Given the description of an element on the screen output the (x, y) to click on. 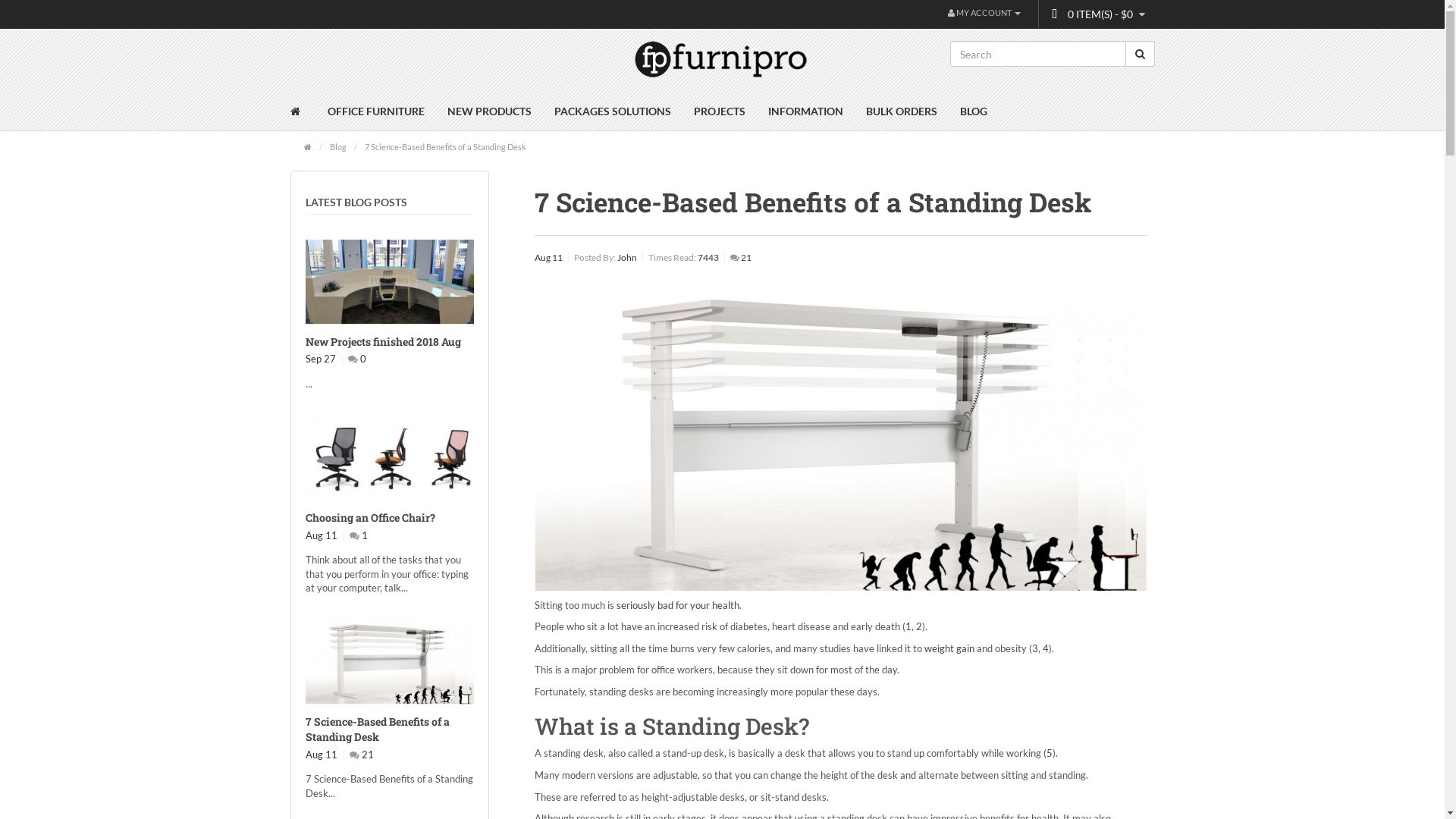
NEW PRODUCTS Element type: text (488, 111)
PROJECTS Element type: text (719, 111)
7 Science-Based Benefits of a Standing Desk Element type: text (445, 146)
BULK ORDERS Element type: text (900, 111)
0 ITEM(S) - $0 Element type: text (1096, 14)
INFORMATION Element type: text (805, 111)
1 Element type: text (908, 626)
FurniPro - office, business , commercial furniture Element type: hover (721, 60)
Blog Element type: text (337, 146)
4 Element type: text (1045, 648)
5 Element type: text (1049, 752)
7 Science-Based Benefits of a Standing Desk Element type: hover (840, 437)
OFFICE FURNITURE Element type: text (375, 111)
seriously bad for your health Element type: text (677, 605)
MY ACCOUNT Element type: text (983, 12)
7 Science-Based Benefits of a Standing Desk Element type: hover (389, 662)
2 Element type: text (919, 626)
Choosing an Office Chair? Element type: text (370, 517)
3 Element type: text (1035, 648)
PACKAGES SOLUTIONS Element type: text (612, 111)
New Projects finished 2018 Aug Element type: hover (389, 281)
New Projects finished 2018 Aug Element type: text (383, 341)
Home Element type: hover (302, 111)
7 Science-Based Benefits of a Standing Desk Element type: text (377, 728)
BLOG Element type: text (972, 111)
weight gain Element type: text (949, 648)
Choosing an Office Chair? Element type: hover (389, 458)
